Given the description of an element on the screen output the (x, y) to click on. 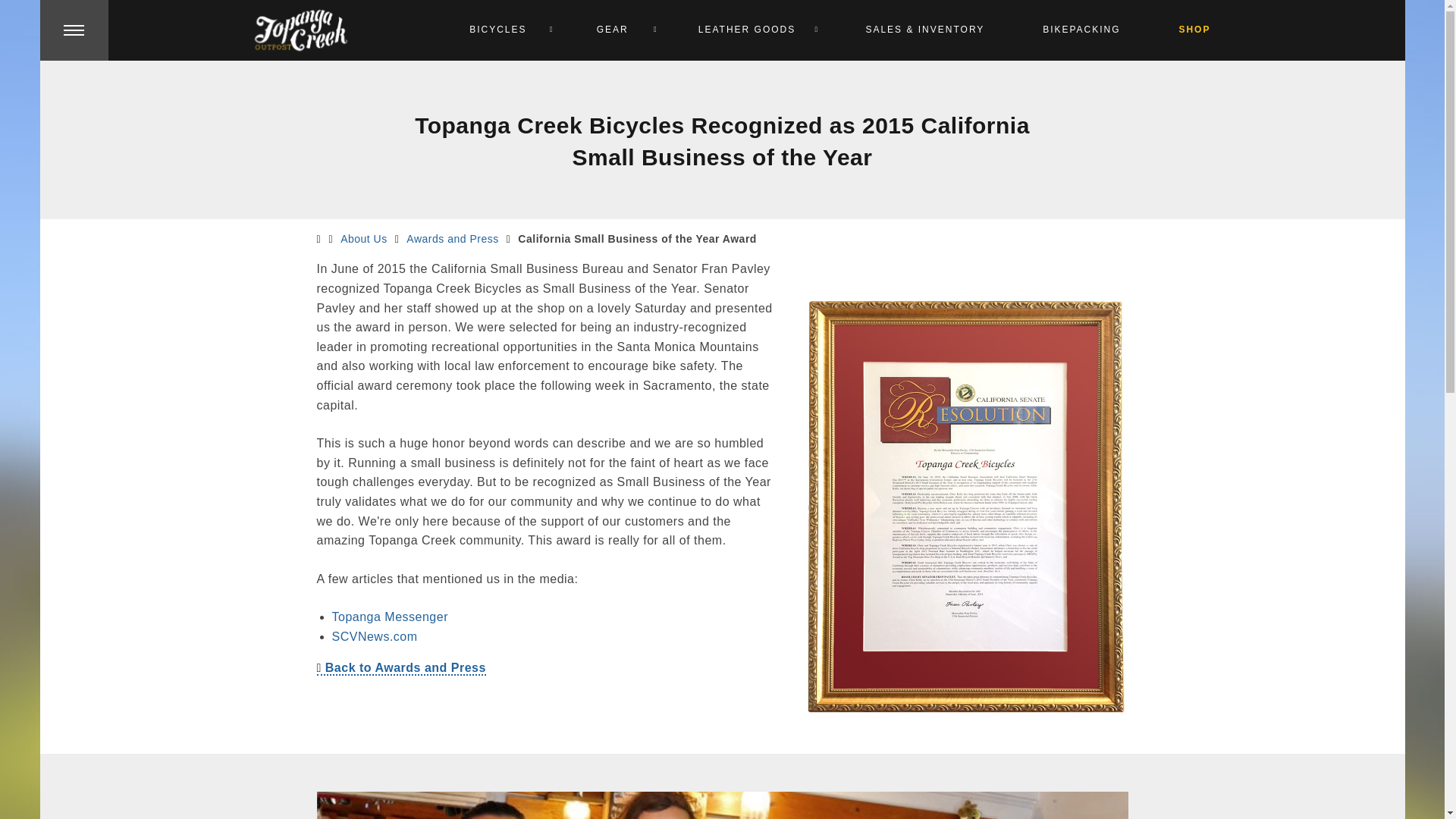
Toggle side menu (73, 30)
GEAR (617, 30)
BIKEPACKING (1081, 30)
SHOP (1195, 30)
BICYCLES (504, 30)
LEATHER GOODS (751, 30)
